Given the description of an element on the screen output the (x, y) to click on. 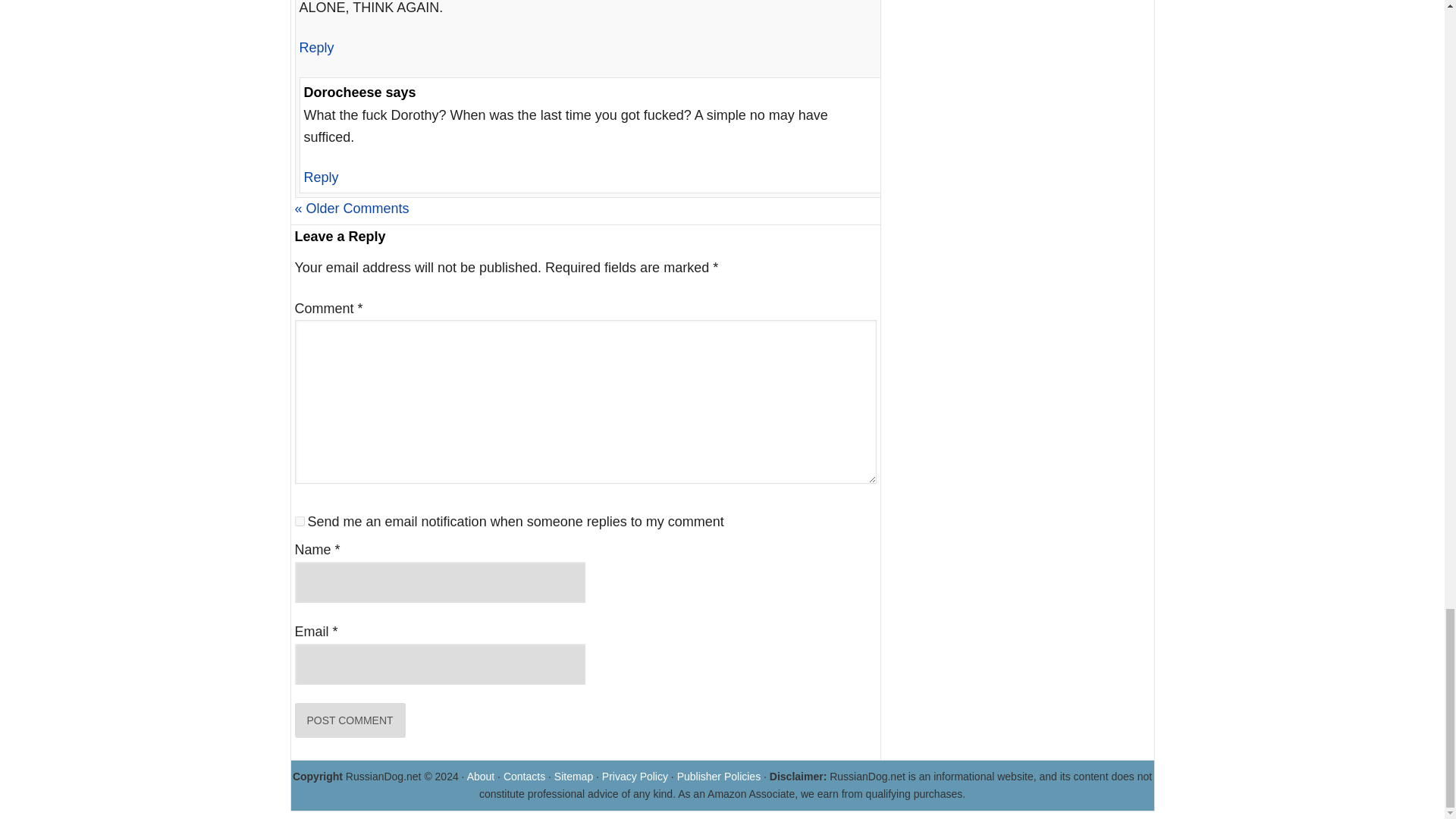
1 (299, 521)
Post Comment (349, 719)
Reply (319, 177)
Reply (315, 47)
Post Comment (349, 719)
